Given the description of an element on the screen output the (x, y) to click on. 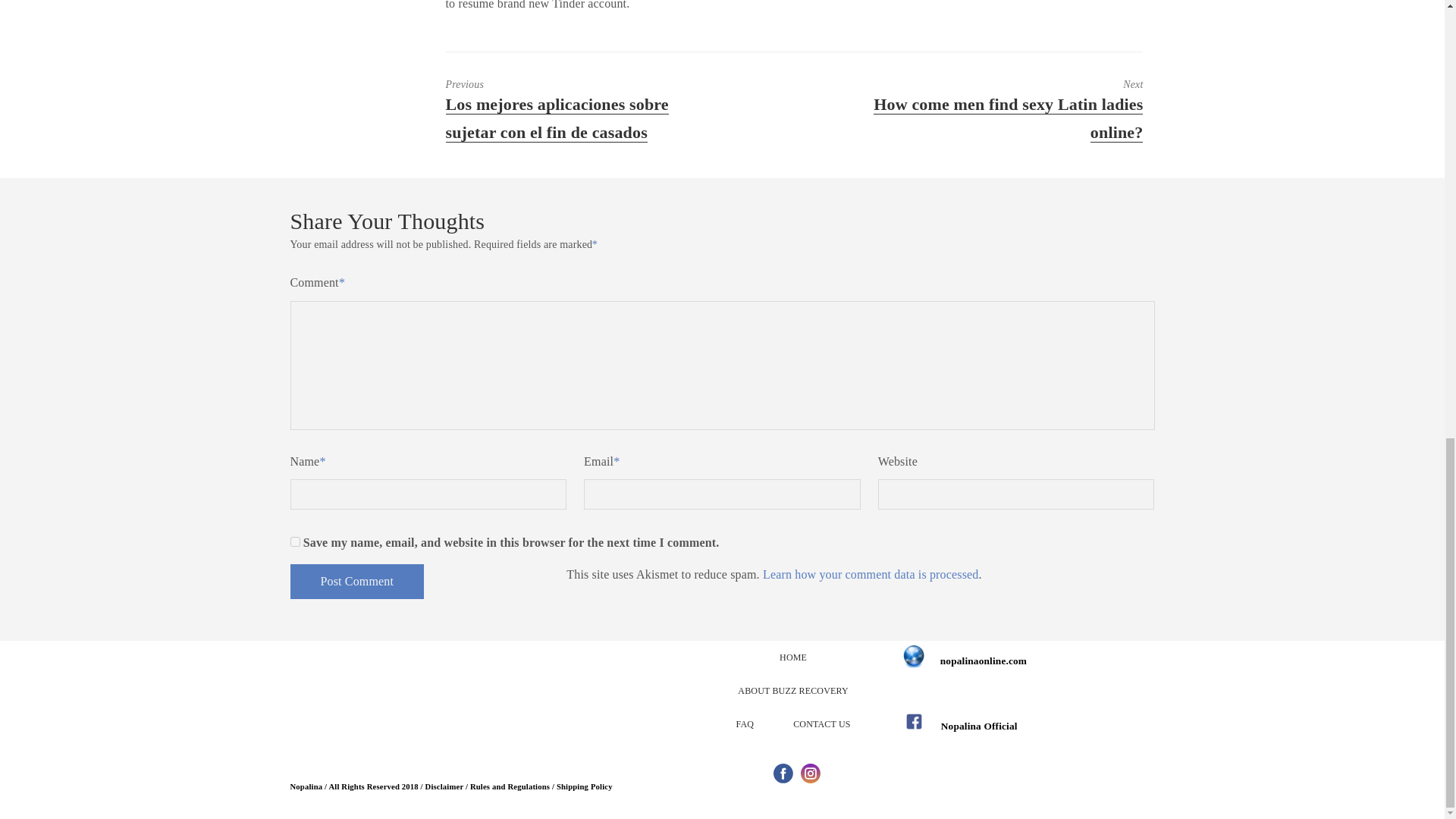
yes (294, 542)
Post Comment (356, 581)
Instagram (810, 772)
Facebook (783, 772)
